Given the description of an element on the screen output the (x, y) to click on. 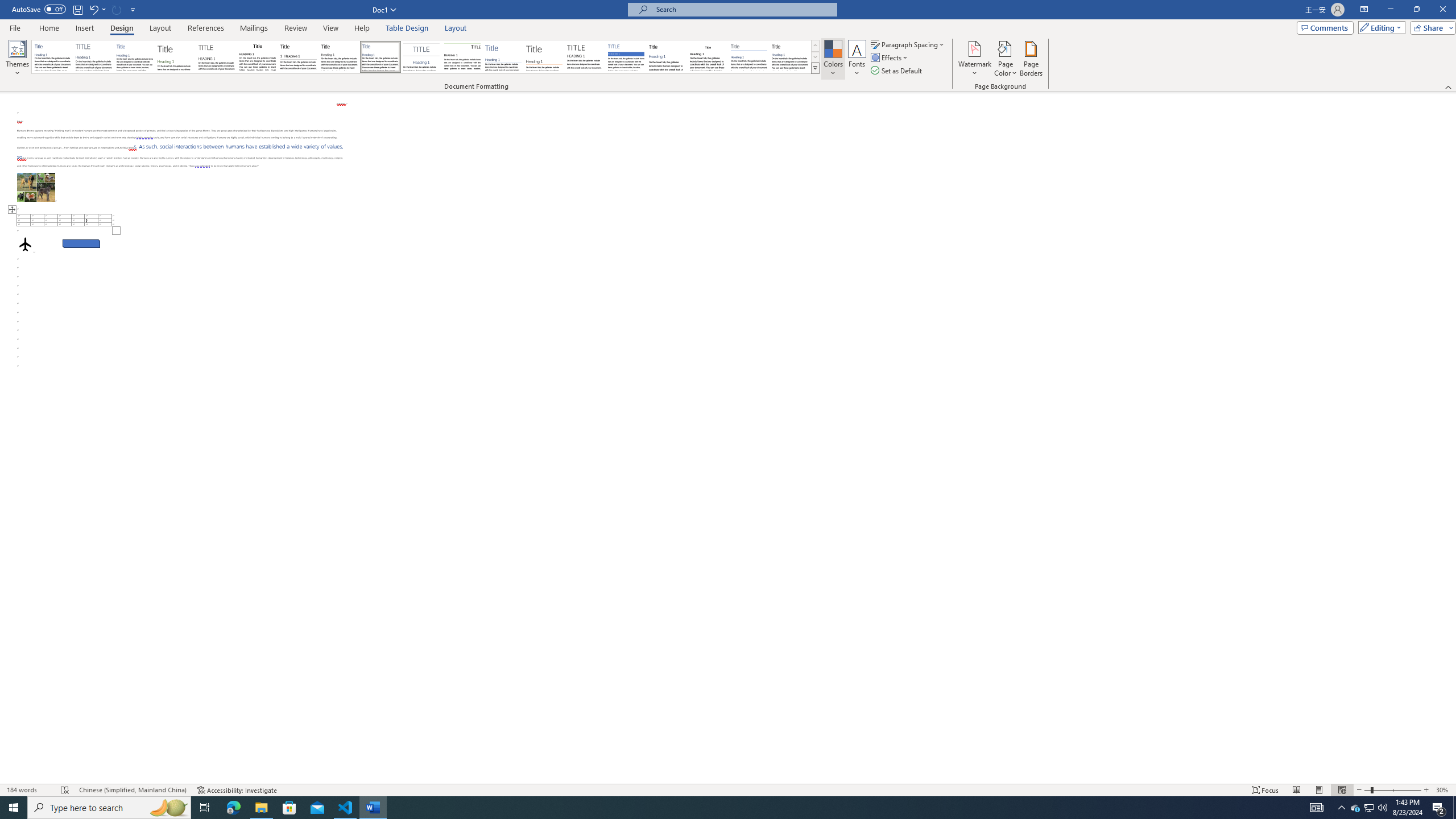
Themes (17, 58)
Page Color (1005, 58)
Lines (Simple) (503, 56)
Fonts (856, 58)
Airplane with solid fill (25, 243)
